Given the description of an element on the screen output the (x, y) to click on. 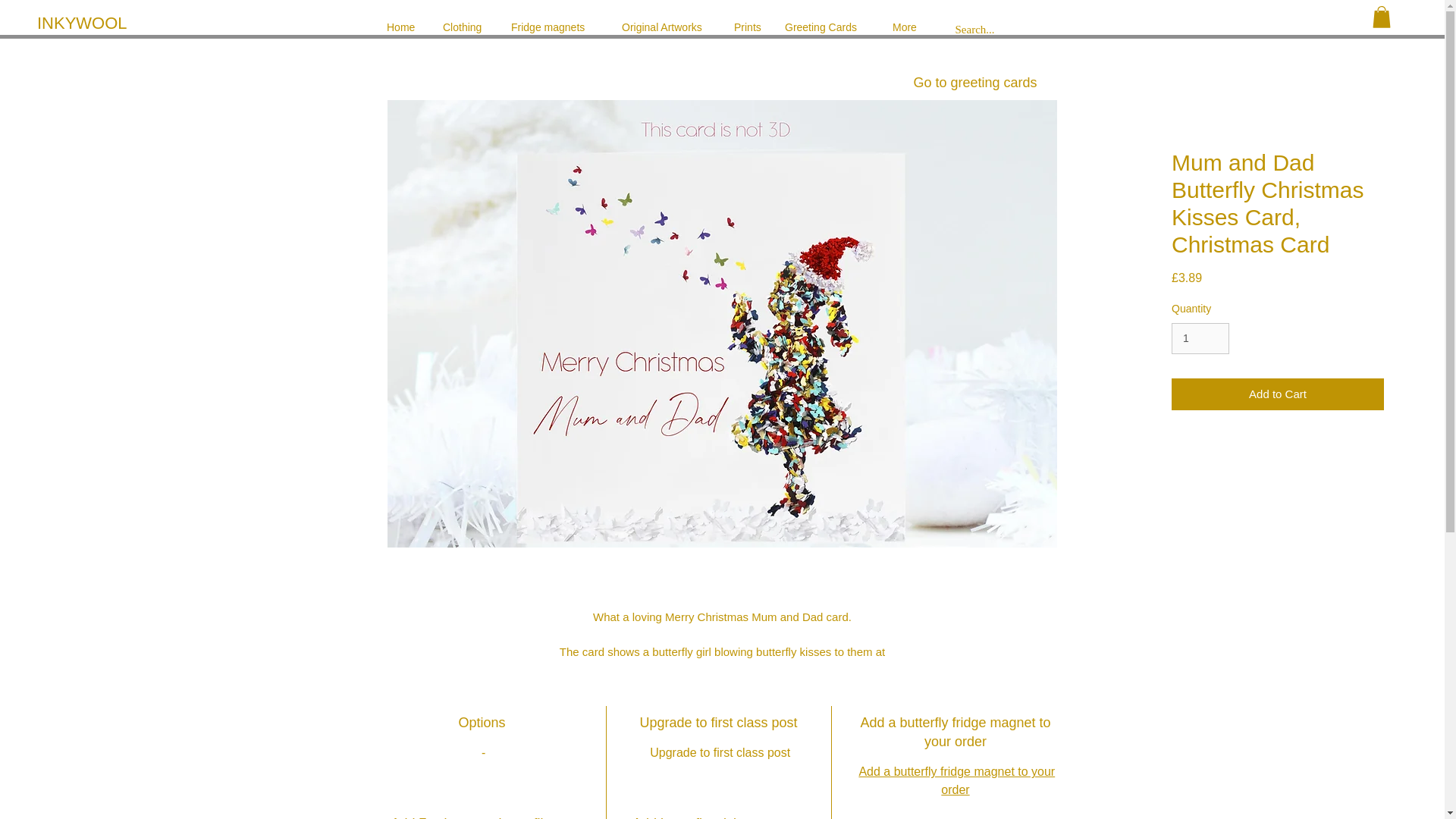
Clothing (464, 27)
Home (402, 27)
INKYWOOL (103, 23)
Prints (747, 27)
Add a butterfly fridge magnet to your order (956, 780)
Fridge magnets (554, 27)
Add to Cart (1278, 394)
1 (1200, 337)
Original Artworks (666, 27)
Greeting Cards (826, 27)
